Given the description of an element on the screen output the (x, y) to click on. 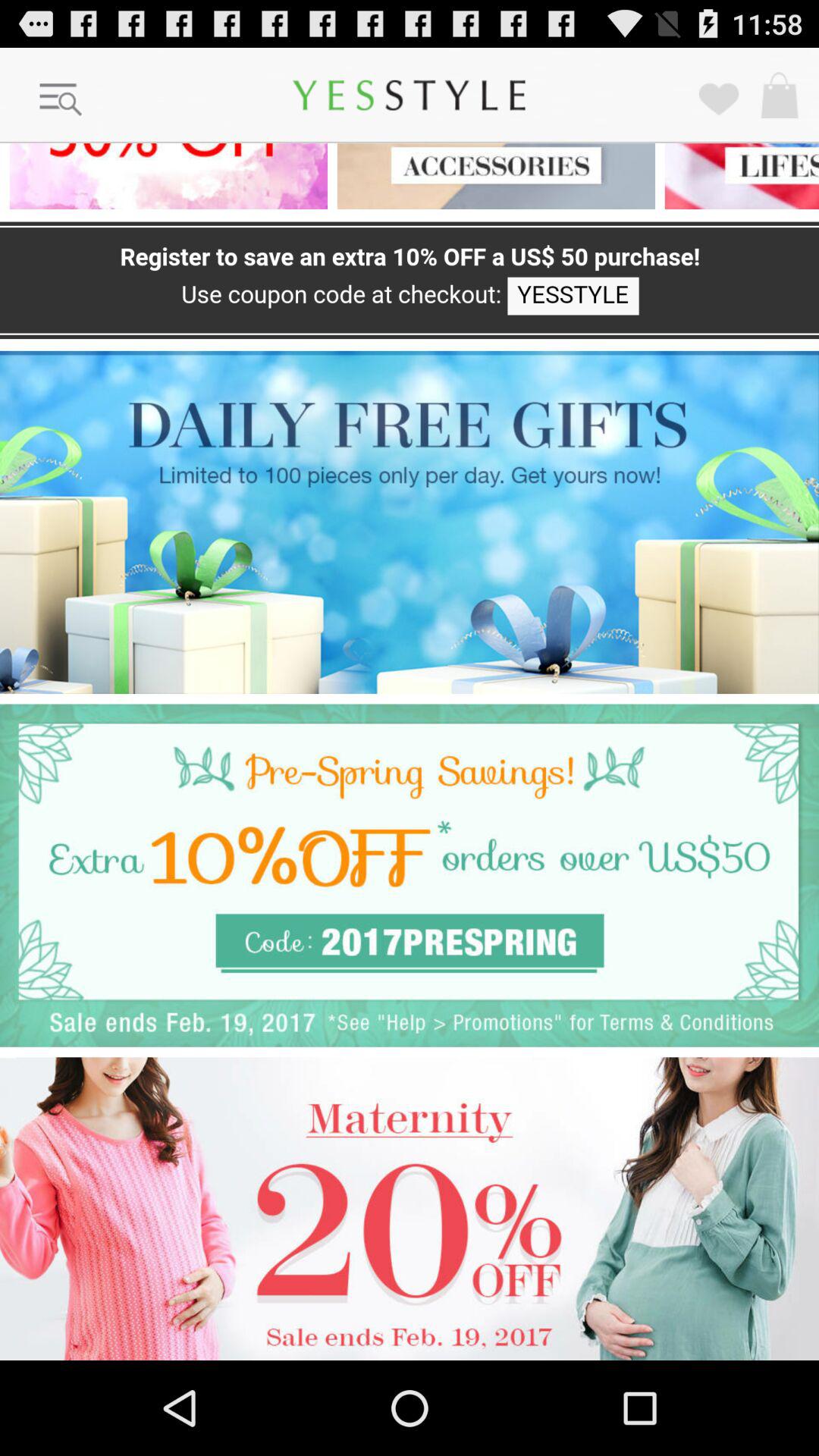
click to search (61, 100)
